Given the description of an element on the screen output the (x, y) to click on. 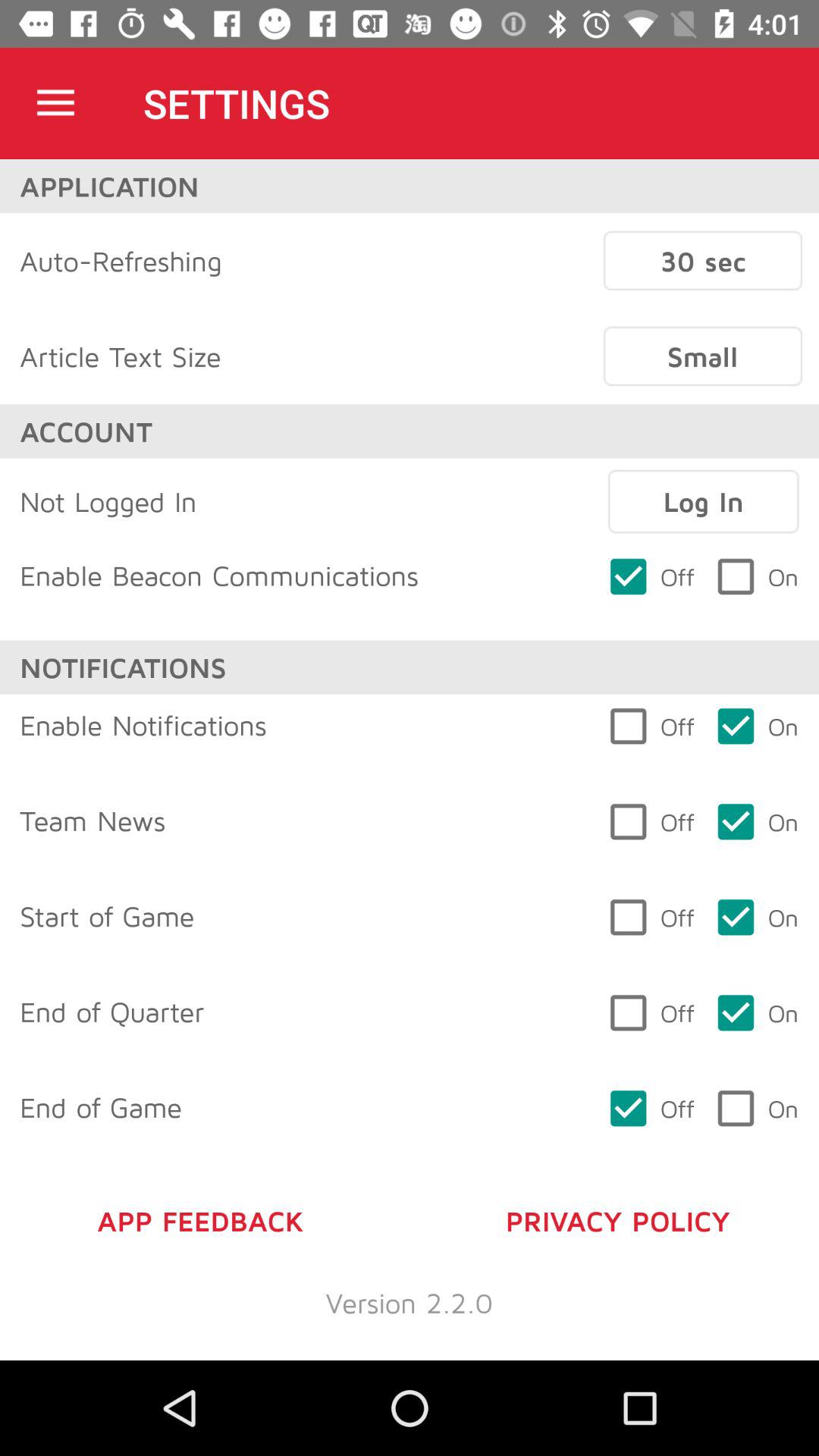
open icon next to settings (55, 103)
